Given the description of an element on the screen output the (x, y) to click on. 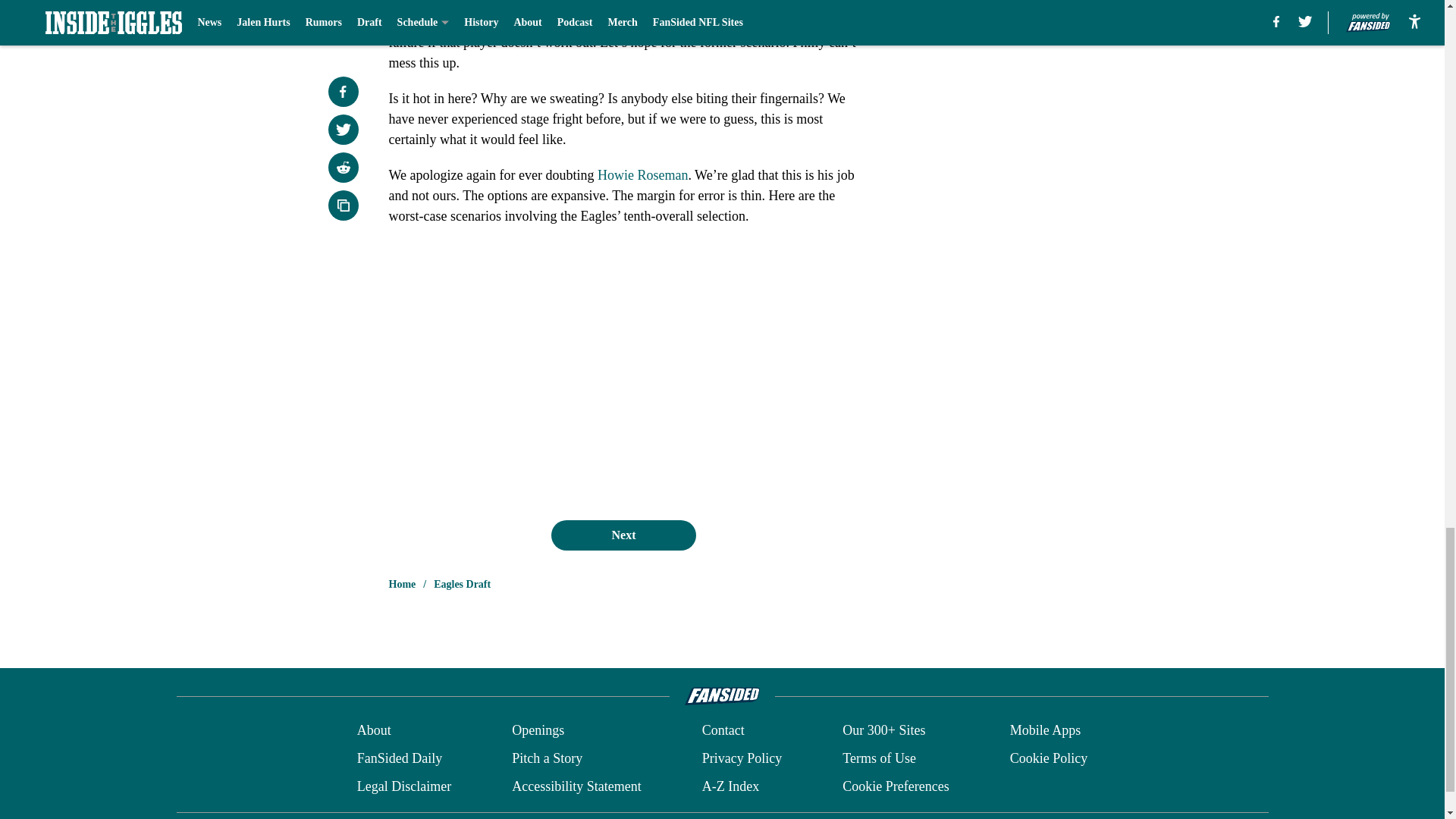
Contact (722, 730)
Eagles Draft (461, 584)
Mobile Apps (1045, 730)
Openings (538, 730)
FanSided Daily (399, 758)
About (373, 730)
Next (622, 535)
Home (401, 584)
Howie Roseman (641, 174)
